Given the description of an element on the screen output the (x, y) to click on. 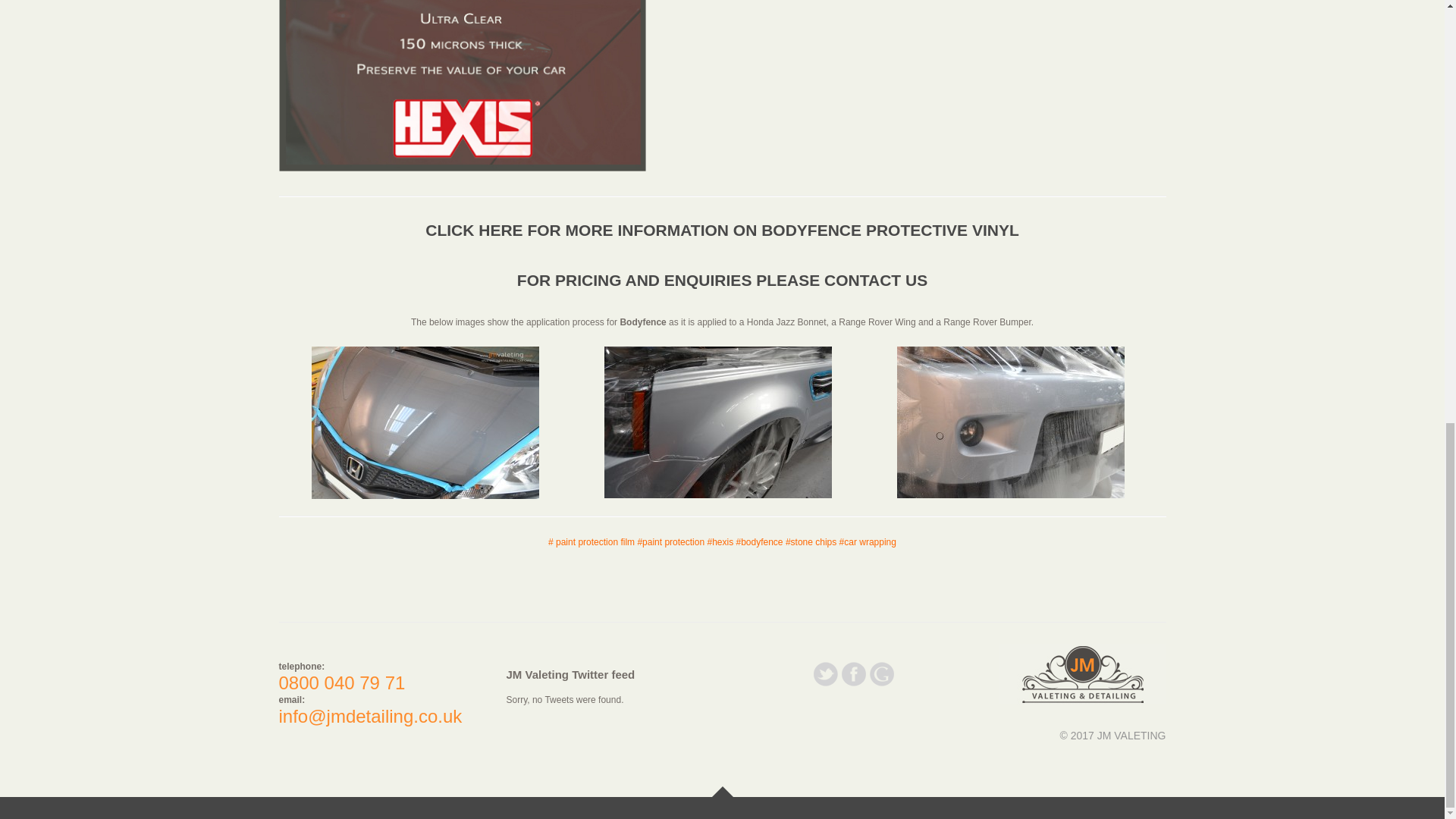
FOR PRICING AND ENQUIRIES PLEASE CONTACT US (721, 280)
google (881, 685)
twitter (824, 685)
facebook (853, 685)
